Given the description of an element on the screen output the (x, y) to click on. 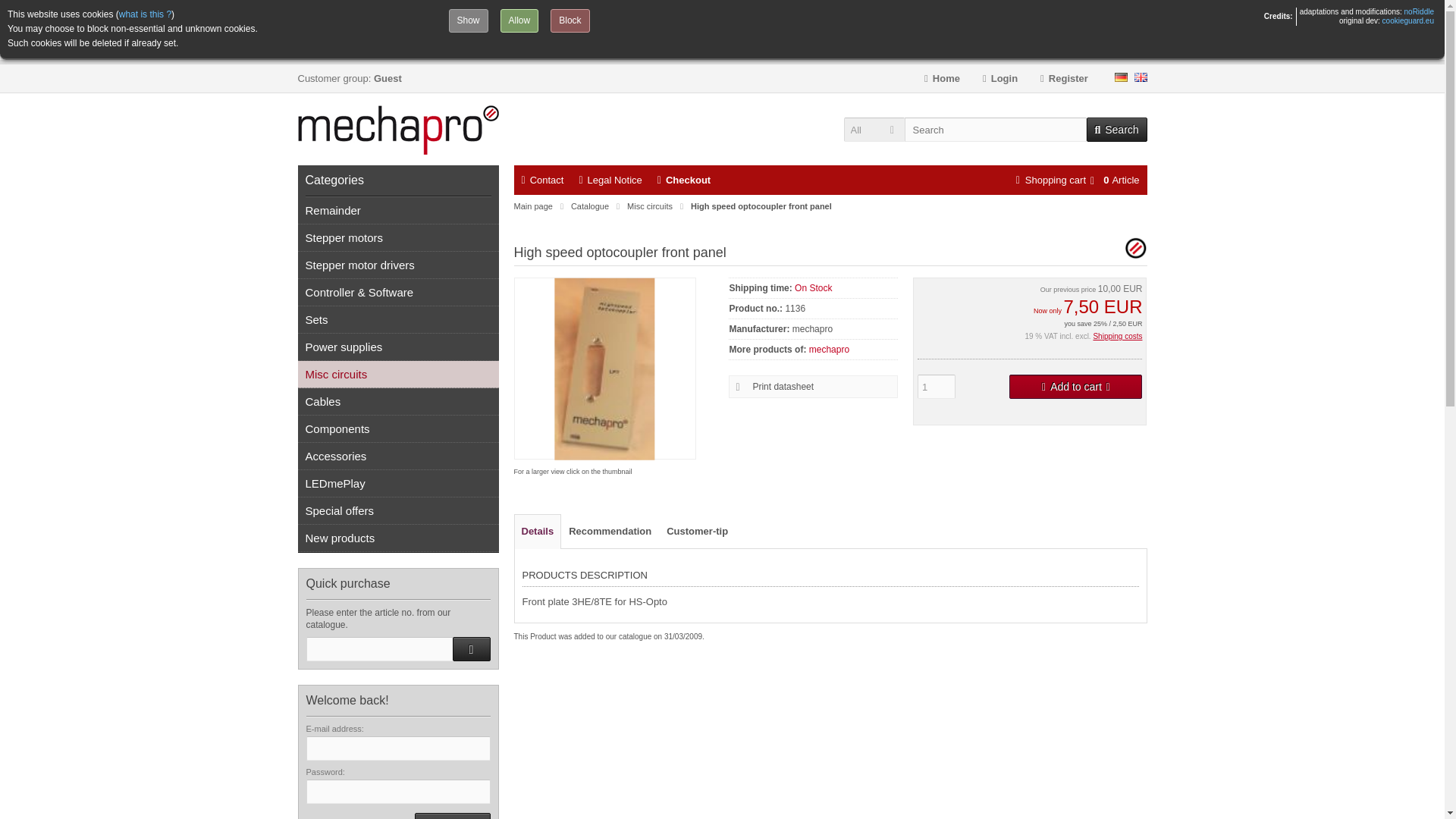
Deutsch (1120, 76)
1 (936, 386)
Block (569, 20)
Home (941, 78)
Show (467, 20)
mechapro (1135, 255)
what is this ? (145, 14)
mechapro (828, 348)
Legal Notice (610, 179)
 All (873, 129)
Misc circuits (649, 205)
Print datasheet (812, 386)
noRiddle (1419, 11)
Print datasheet (812, 386)
On Stock (812, 287)
